Given the description of an element on the screen output the (x, y) to click on. 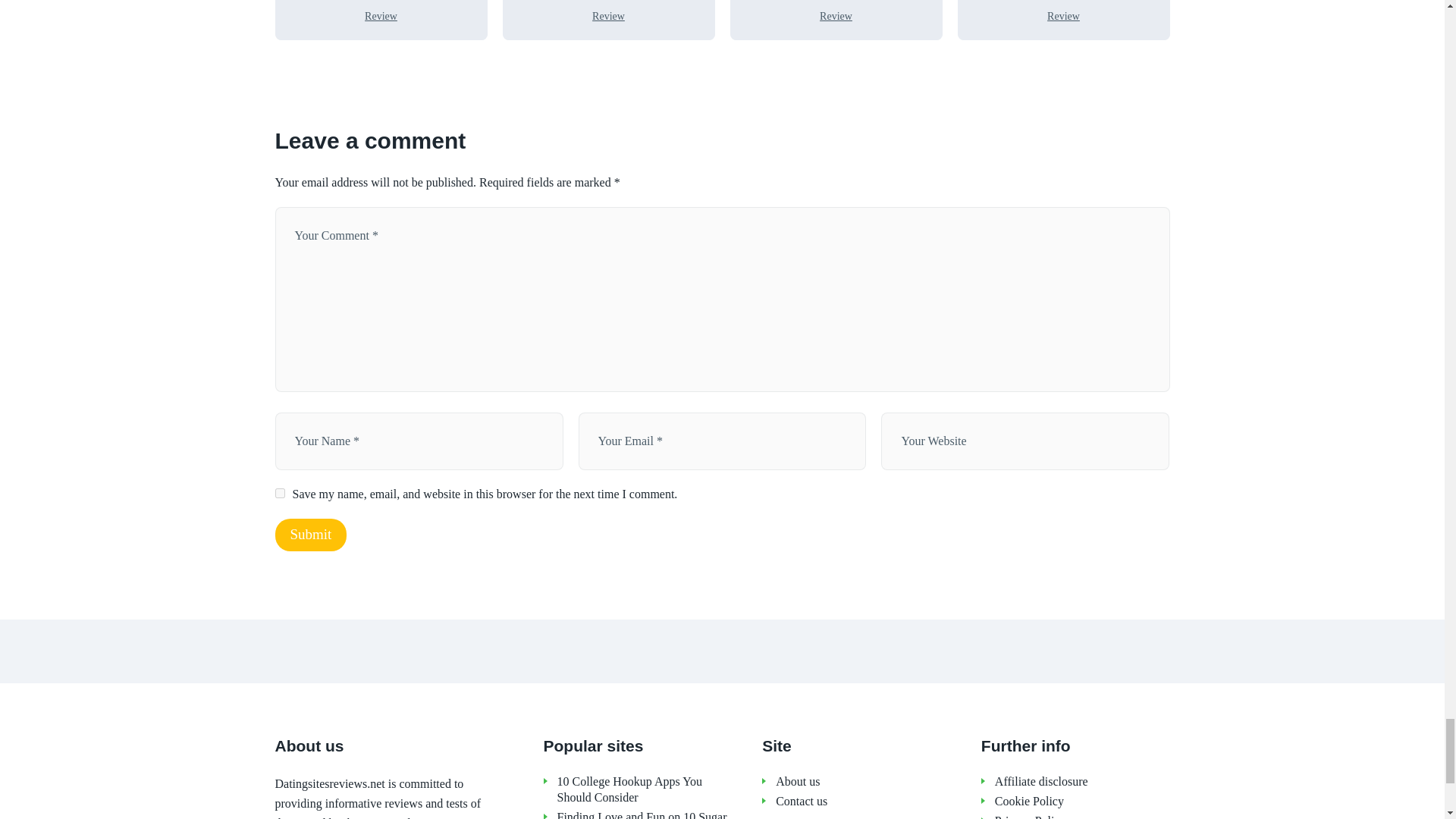
Submit (310, 534)
yes (279, 492)
